Given the description of an element on the screen output the (x, y) to click on. 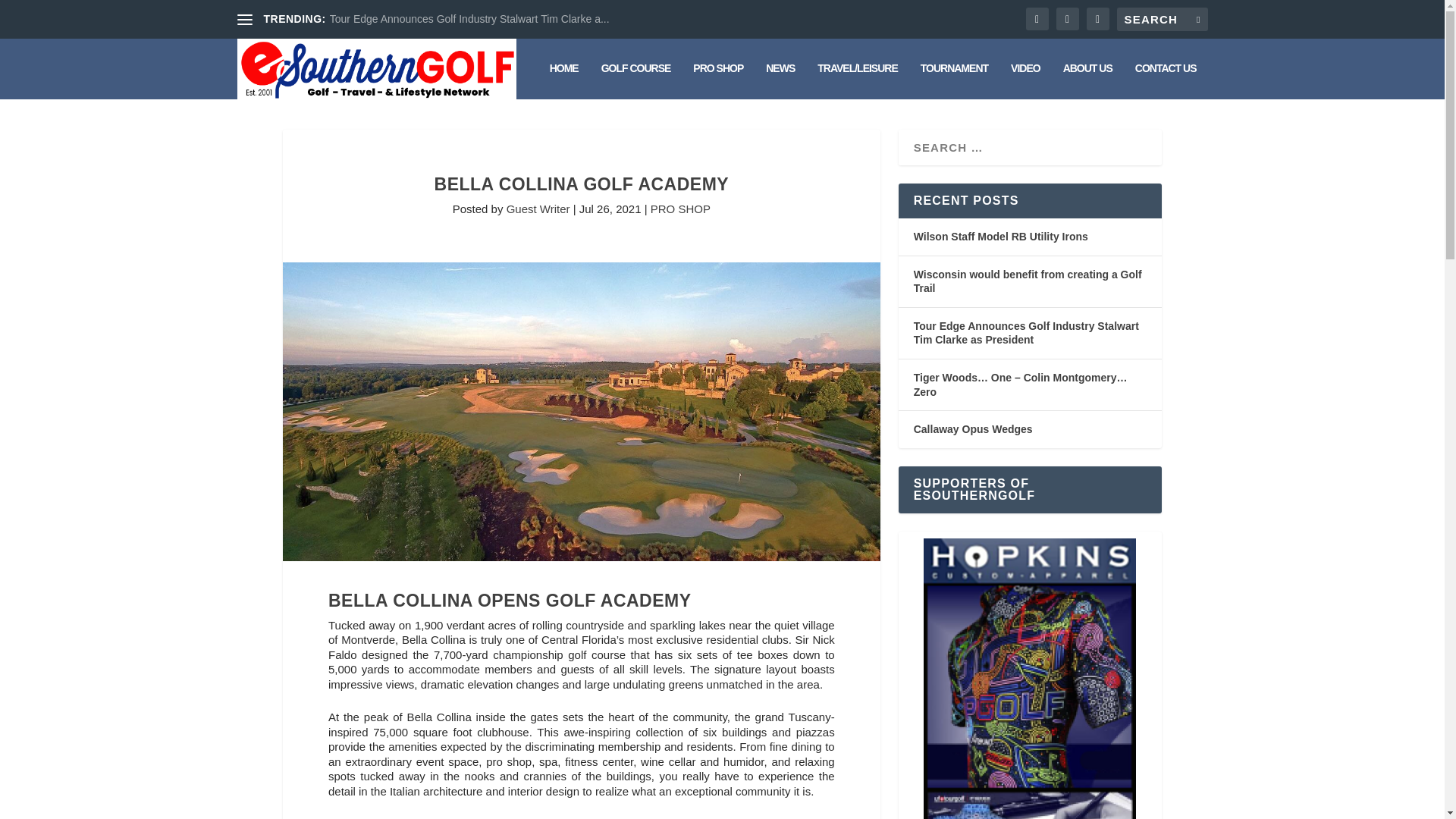
Posts by Guest Writer (538, 208)
TOURNAMENT (954, 80)
ABOUT US (1087, 80)
CONTACT US (1165, 80)
GOLF COURSE (636, 80)
Tour Edge Announces Golf Industry Stalwart Tim Clarke a... (470, 19)
PRO SHOP (717, 80)
Guest Writer (538, 208)
Search for: (1161, 19)
PRO SHOP (680, 208)
